Given the description of an element on the screen output the (x, y) to click on. 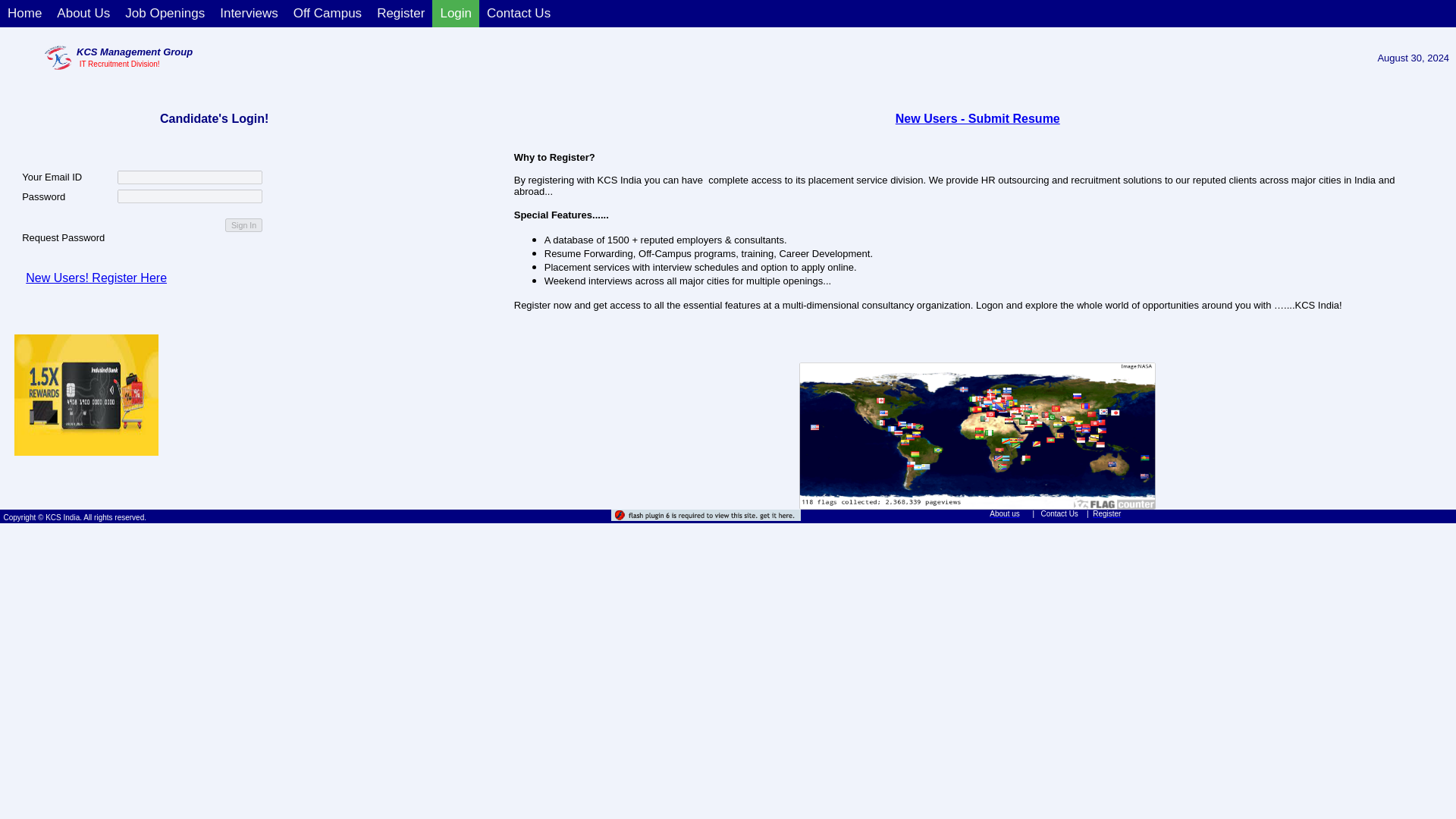
About Us (83, 13)
Interviews (248, 13)
Home (24, 13)
Sign In (243, 224)
Sign In (243, 224)
Job Openings (164, 13)
New Users! Register Here (96, 277)
New Users - Submit Resume (977, 118)
Off Campus (327, 13)
Register (400, 13)
